Given the description of an element on the screen output the (x, y) to click on. 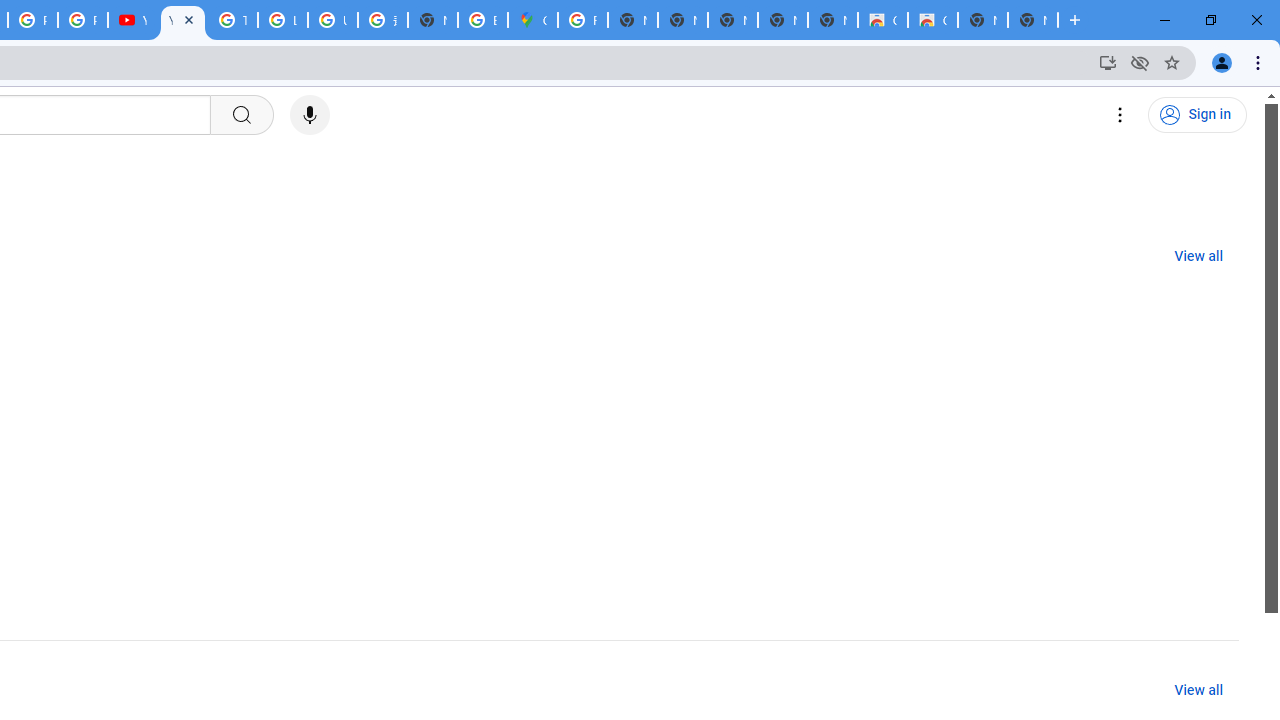
Explore new street-level details - Google Maps Help (483, 20)
Classic Blue - Chrome Web Store (882, 20)
Tips & tricks for Chrome - Google Chrome Help (232, 20)
Google Maps (533, 20)
Privacy Checkup (82, 20)
New Tab (433, 20)
View all (1198, 690)
Classic Blue - Chrome Web Store (932, 20)
